Given the description of an element on the screen output the (x, y) to click on. 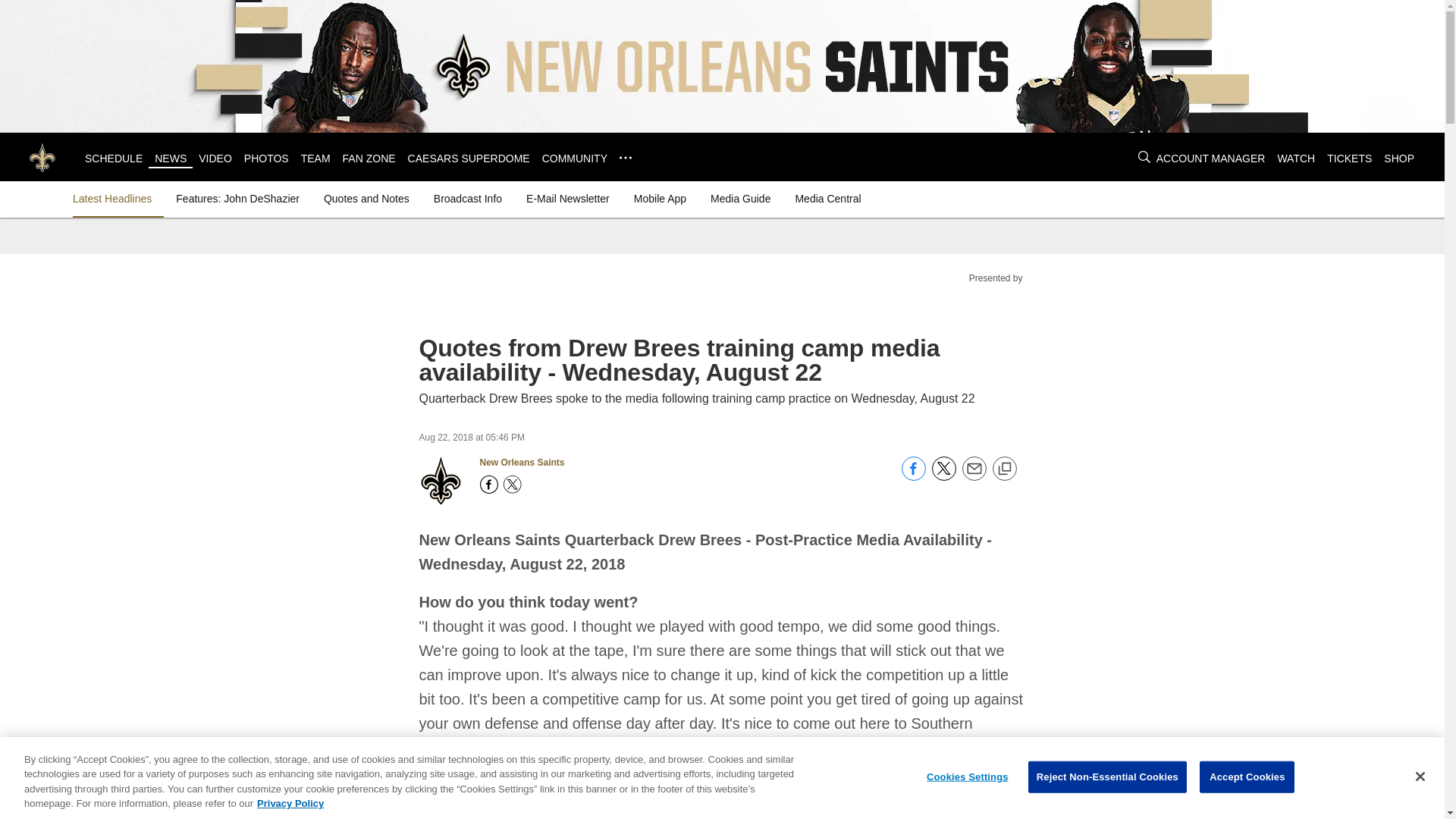
TEAM (315, 158)
ACCOUNT MANAGER (1210, 158)
TEAM (315, 158)
TICKETS (1348, 158)
NEWS (170, 158)
Broadcast Info (468, 198)
CAESARS SUPERDOME (468, 158)
E-Mail Newsletter (567, 198)
PHOTOS (266, 158)
FAN ZONE (369, 158)
Mobile App (660, 198)
VIDEO (214, 158)
Latest Headlines (114, 198)
VIDEO (214, 158)
Link to club's homepage (42, 156)
